Given the description of an element on the screen output the (x, y) to click on. 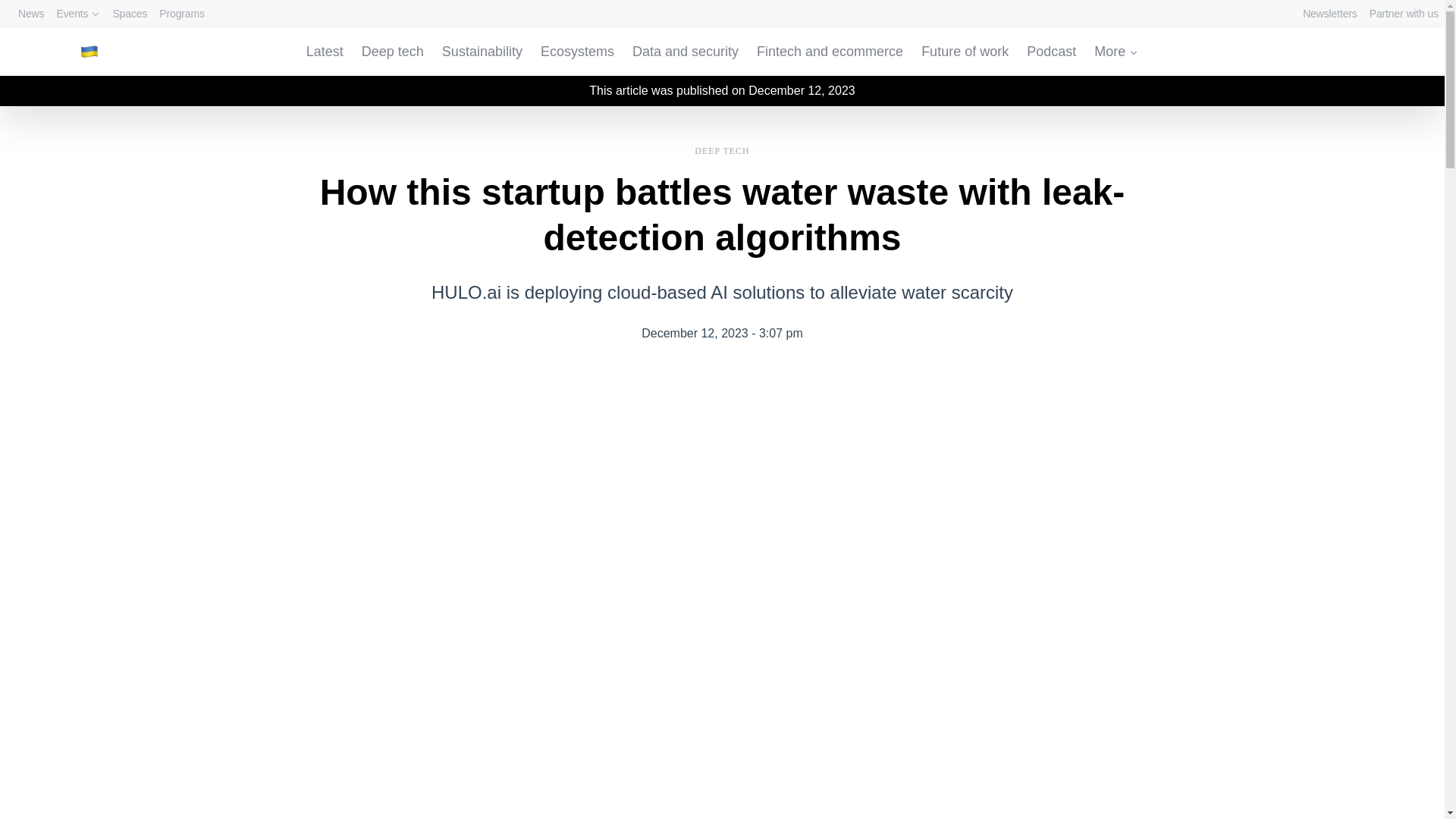
More (1115, 51)
Newsletters (1329, 13)
Programs (181, 13)
Partner with us (1404, 13)
News (30, 13)
Podcast (1051, 51)
Latest (324, 51)
Spaces (129, 13)
DEEP TECH (721, 149)
Future of work (965, 51)
Ecosystems (576, 51)
Data and security (684, 51)
Sustainability (482, 51)
Deep tech (392, 51)
Events (77, 13)
